Given the description of an element on the screen output the (x, y) to click on. 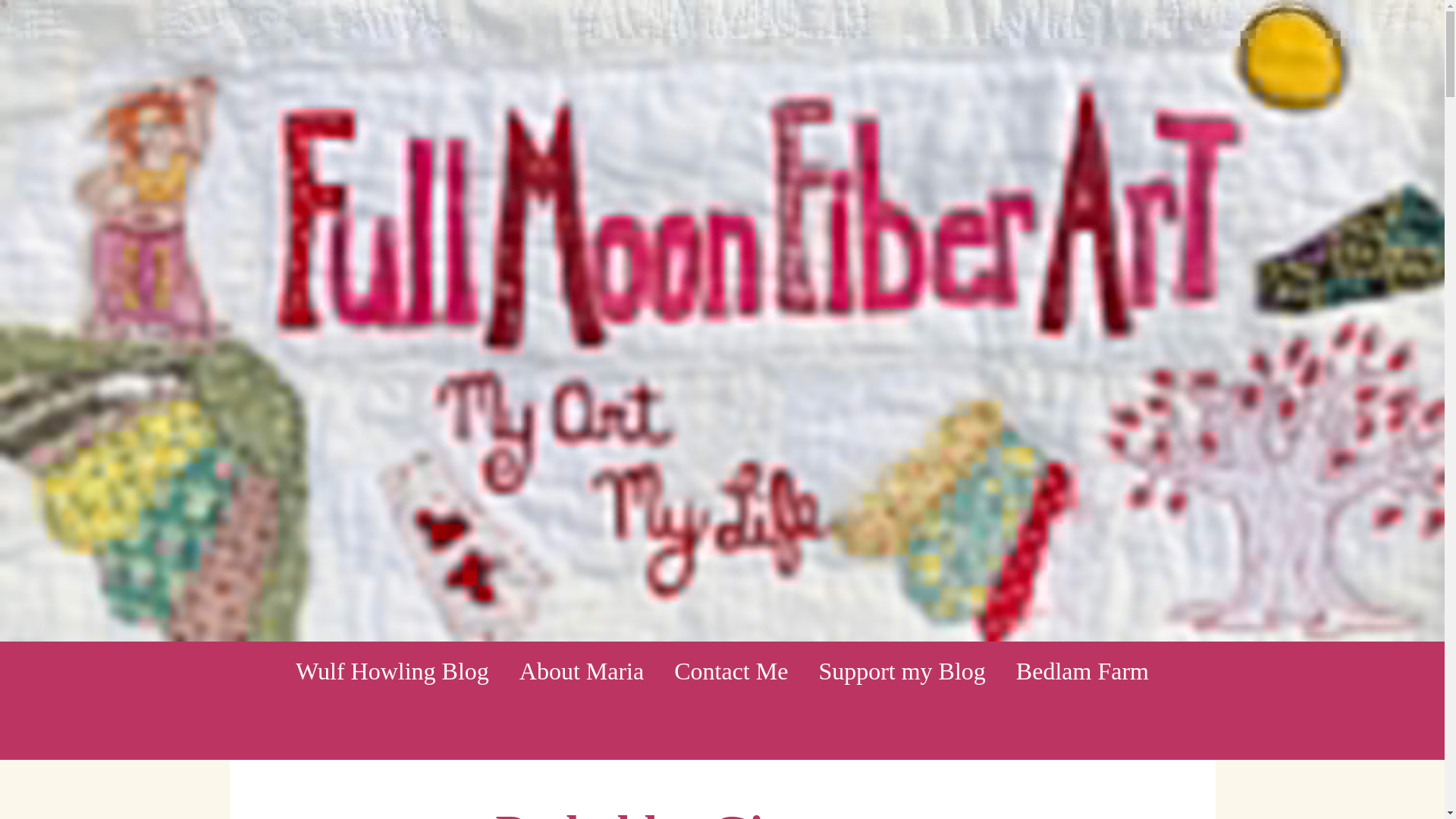
Support my Blog (901, 671)
Wulf Howling Blog (392, 671)
About Maria (581, 671)
Shop Etsy (721, 730)
Contact Me (731, 671)
Bedlam Farm (1082, 671)
